Given the description of an element on the screen output the (x, y) to click on. 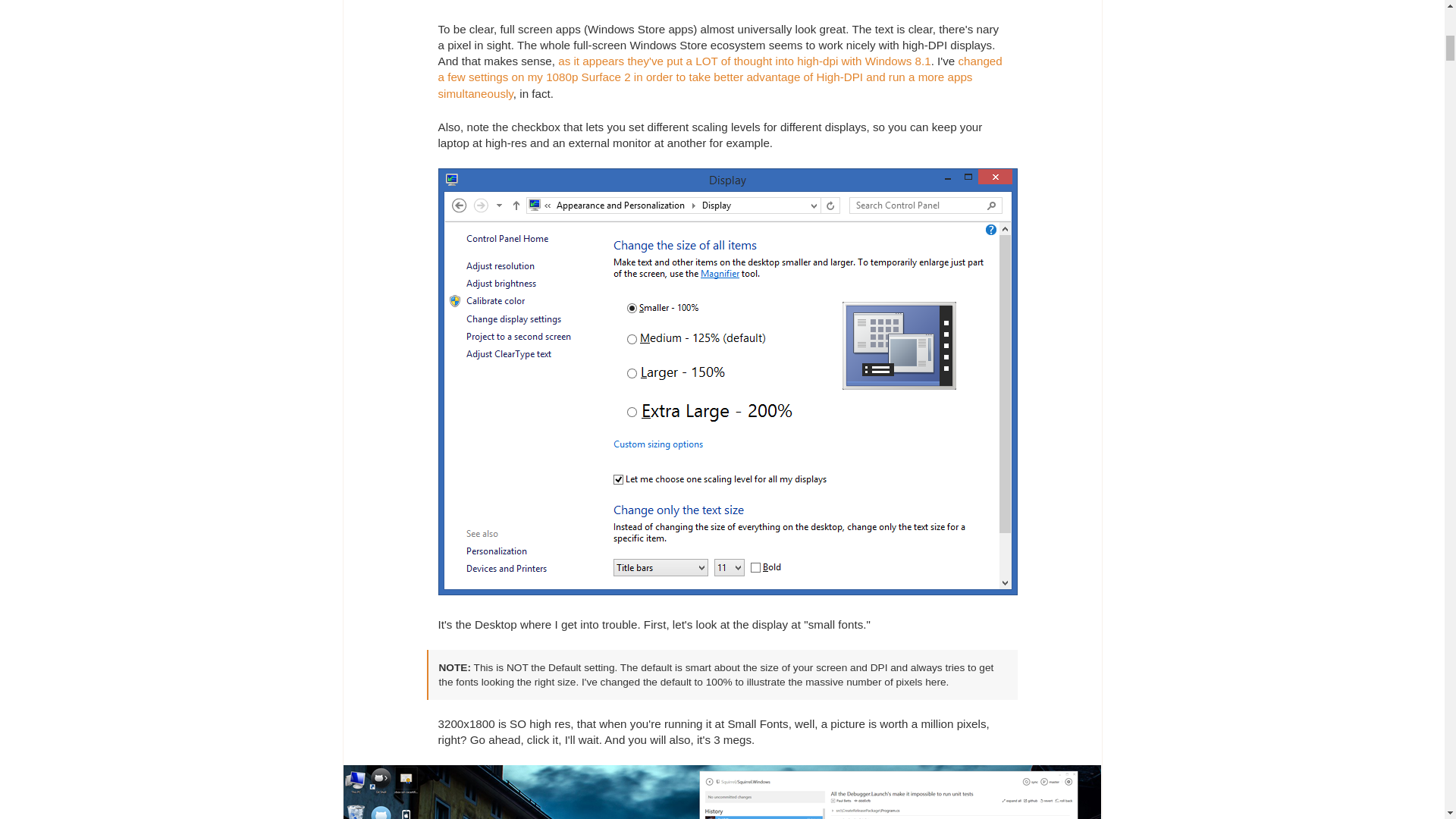
Holy Crap that's a lot of Pixels (721, 791)
